Given the description of an element on the screen output the (x, y) to click on. 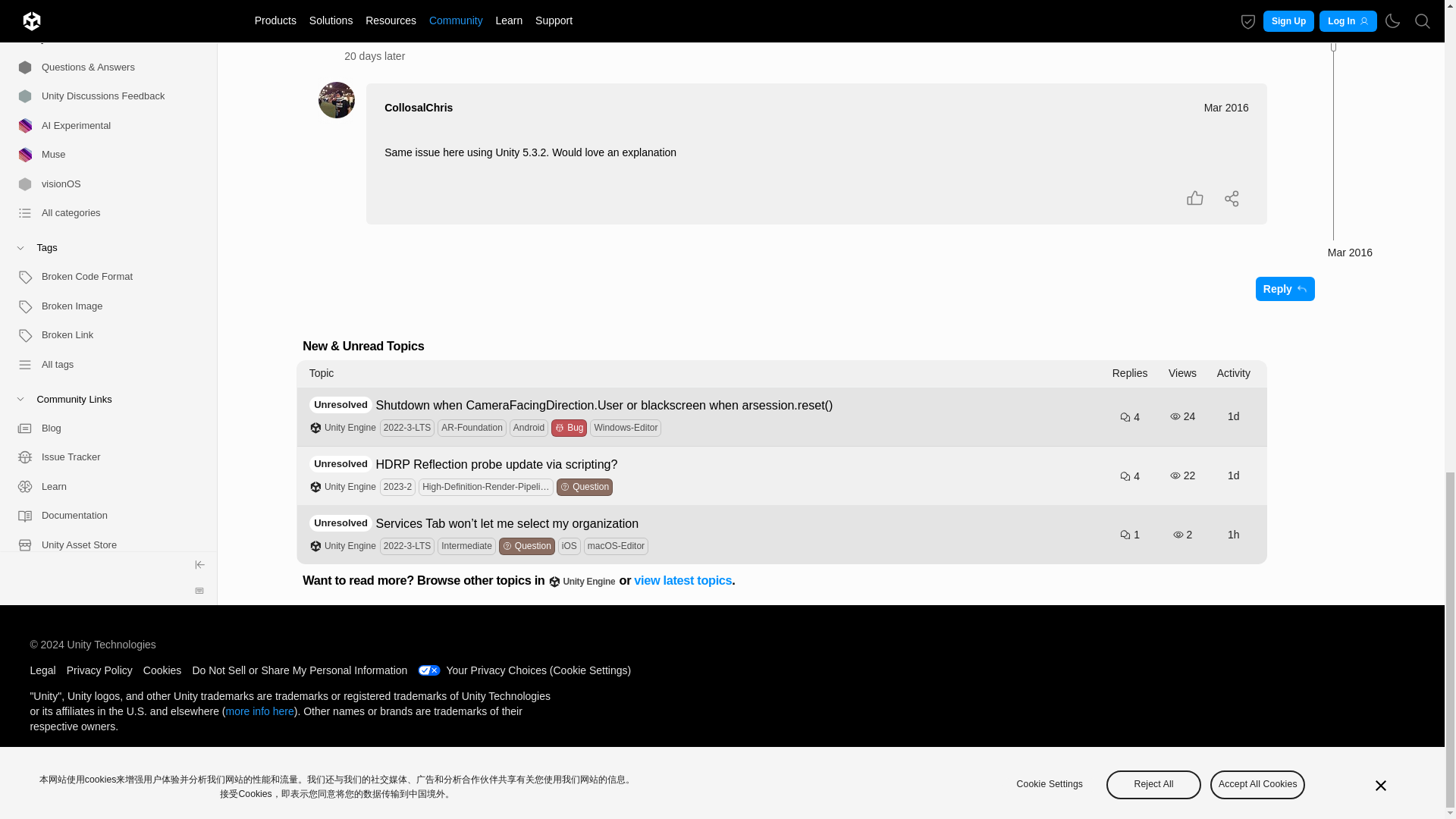
Twitch (102, 13)
